Given the description of an element on the screen output the (x, y) to click on. 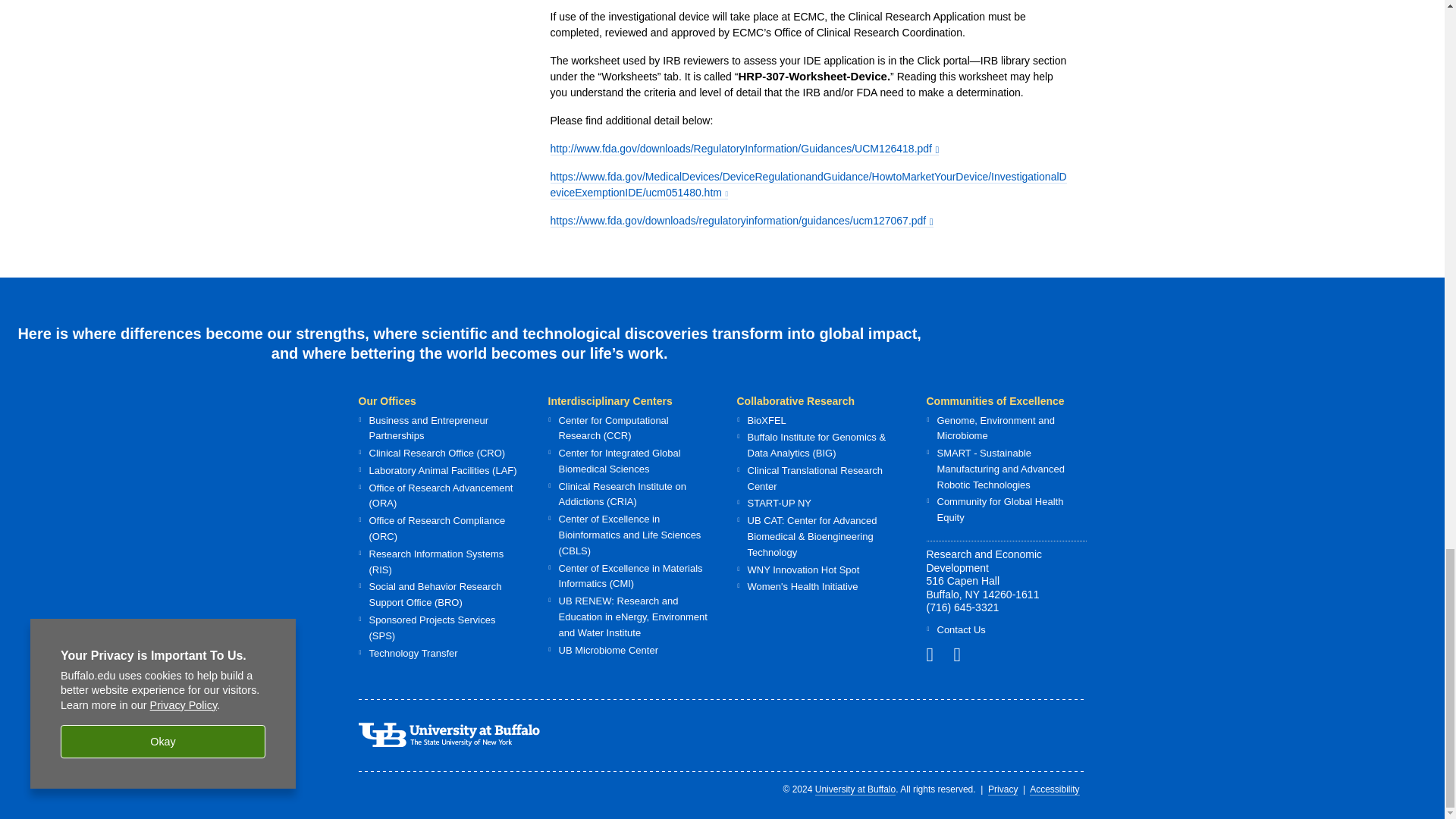
This link will download a file. (741, 220)
This link opens a page in a new window or tab. (808, 184)
LinkedIn (936, 654)
This link will download a file. (744, 148)
This link opens a page in a new window or tab. (963, 654)
